Given the description of an element on the screen output the (x, y) to click on. 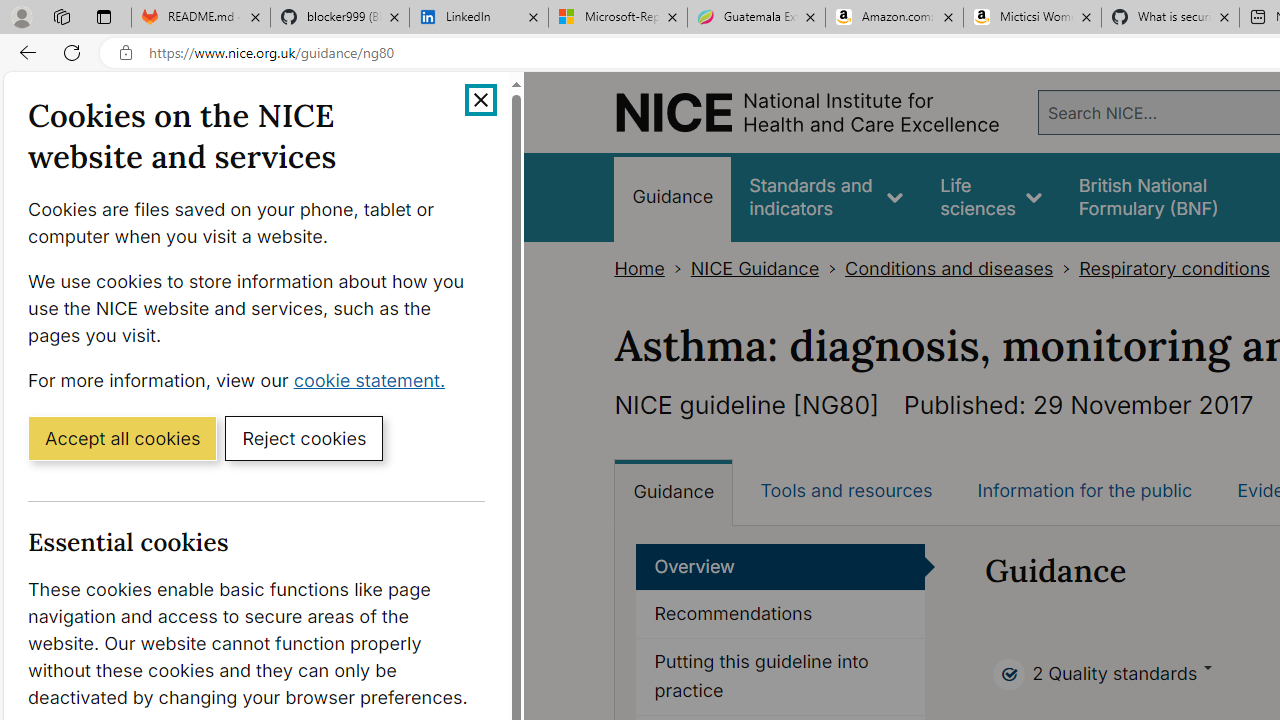
Information for the public (1084, 490)
Accept all cookies (122, 437)
Conditions and diseases (948, 268)
cookie statement. (Opens in a new window) (373, 379)
Close cookie banner (480, 99)
NICE Guidance (754, 268)
Conditions and diseases> (962, 268)
Tools and resources (846, 490)
Recommendations (781, 615)
Respiratory conditions (1174, 268)
